Given the description of an element on the screen output the (x, y) to click on. 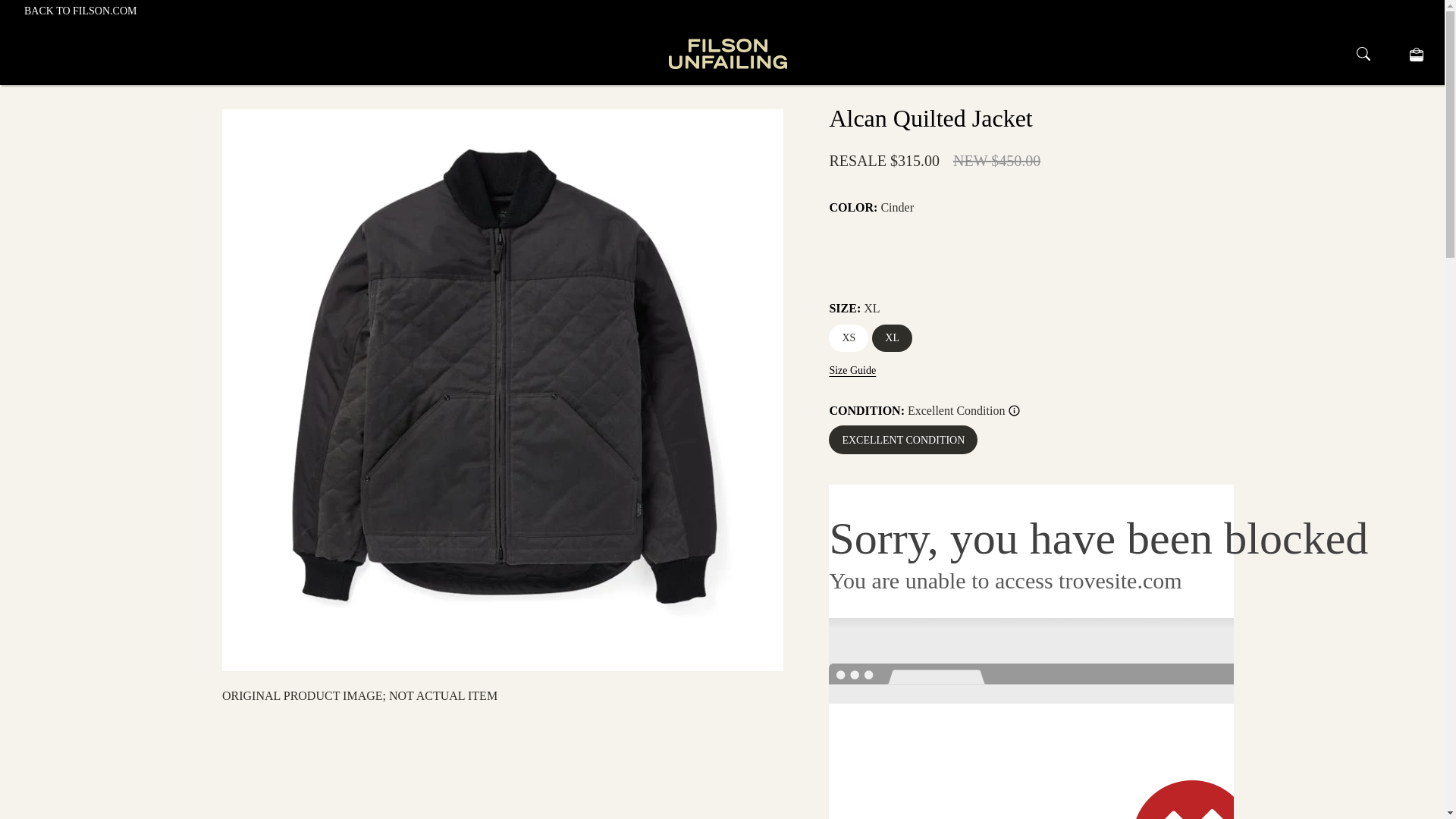
BACK TO FILSON.COM (80, 10)
SKIP TO CONTENT (64, 9)
